Given the description of an element on the screen output the (x, y) to click on. 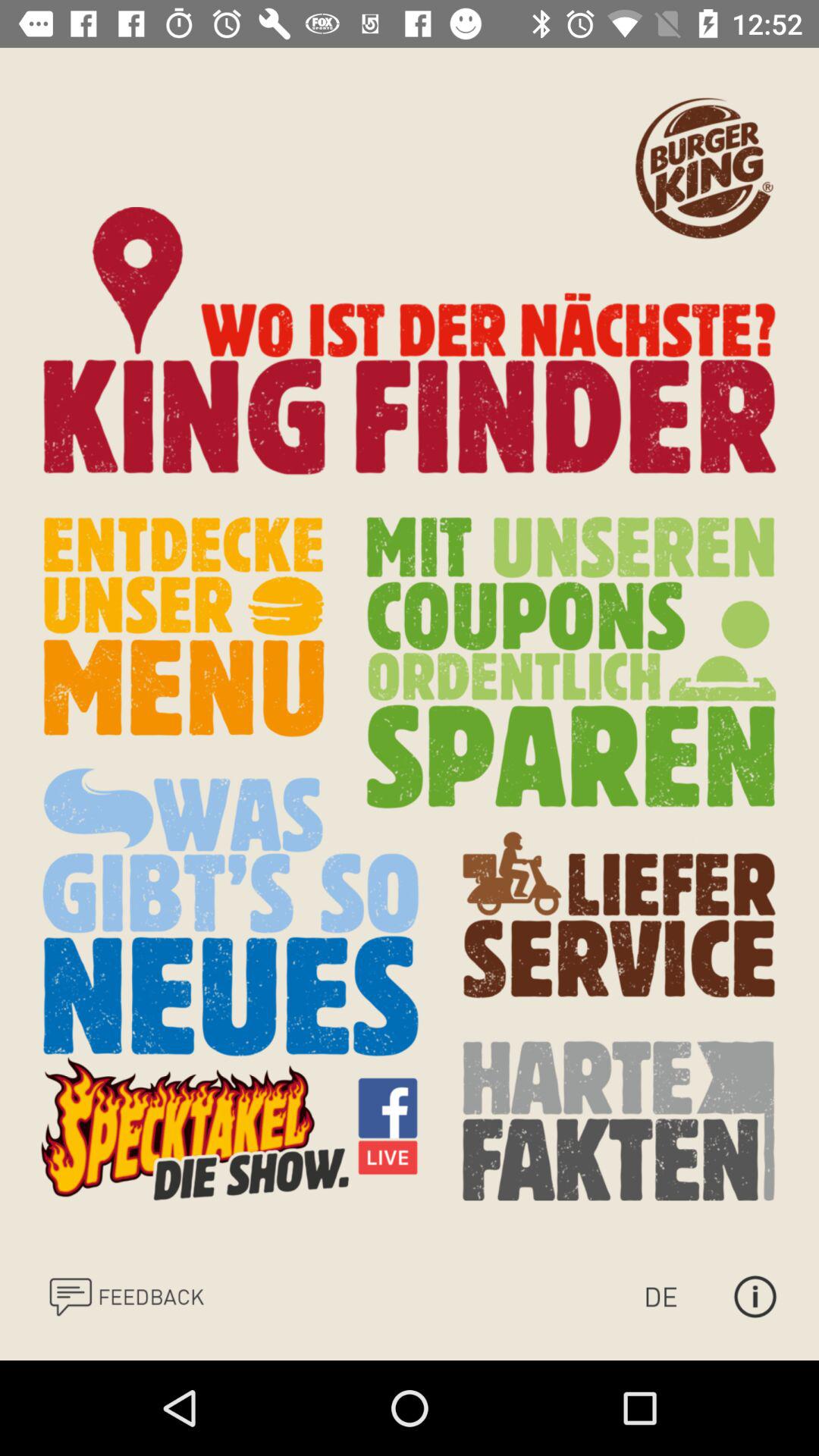
language (675, 1296)
